Given the description of an element on the screen output the (x, y) to click on. 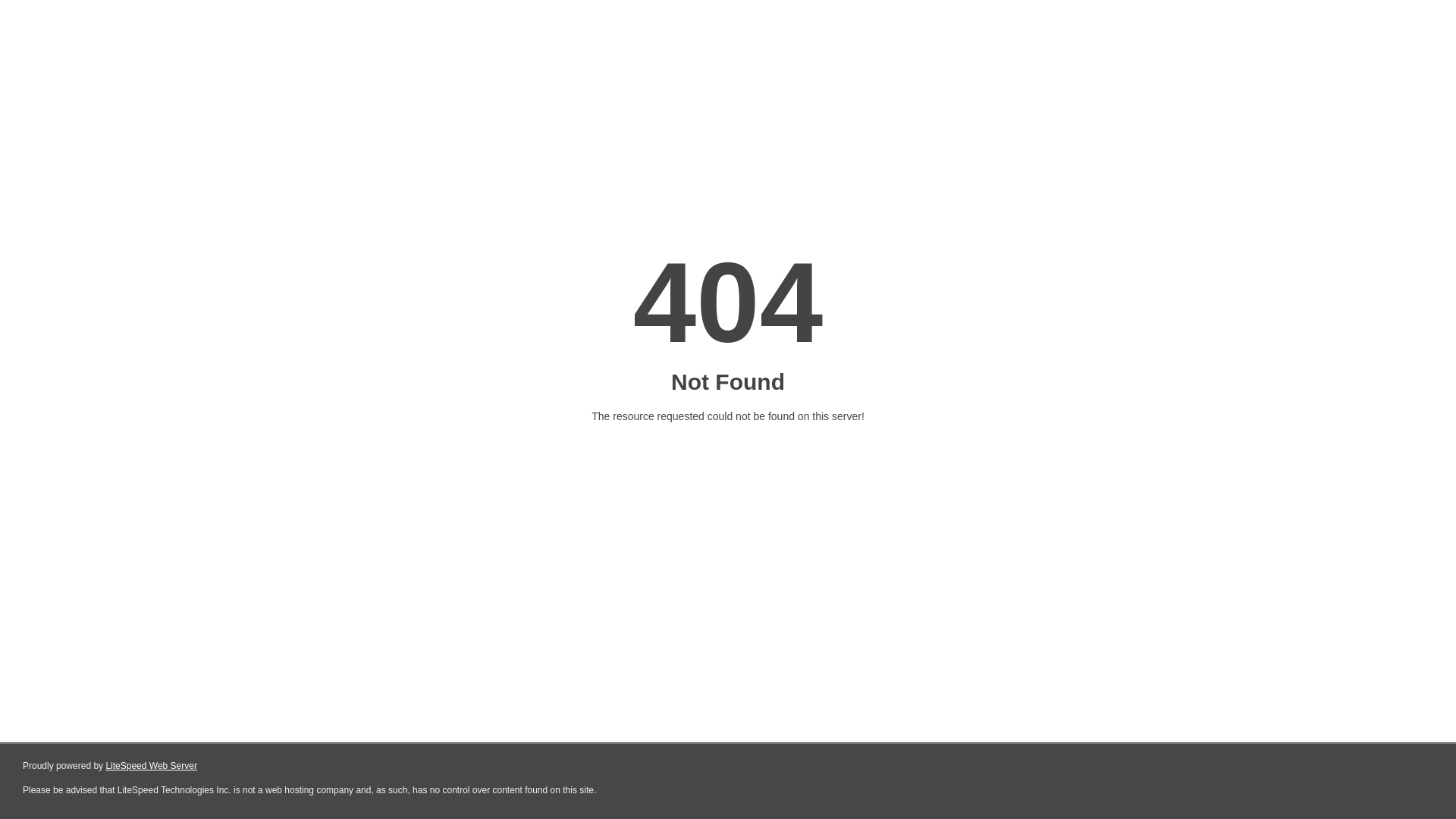
LiteSpeed Web Server Element type: text (151, 765)
